Given the description of an element on the screen output the (x, y) to click on. 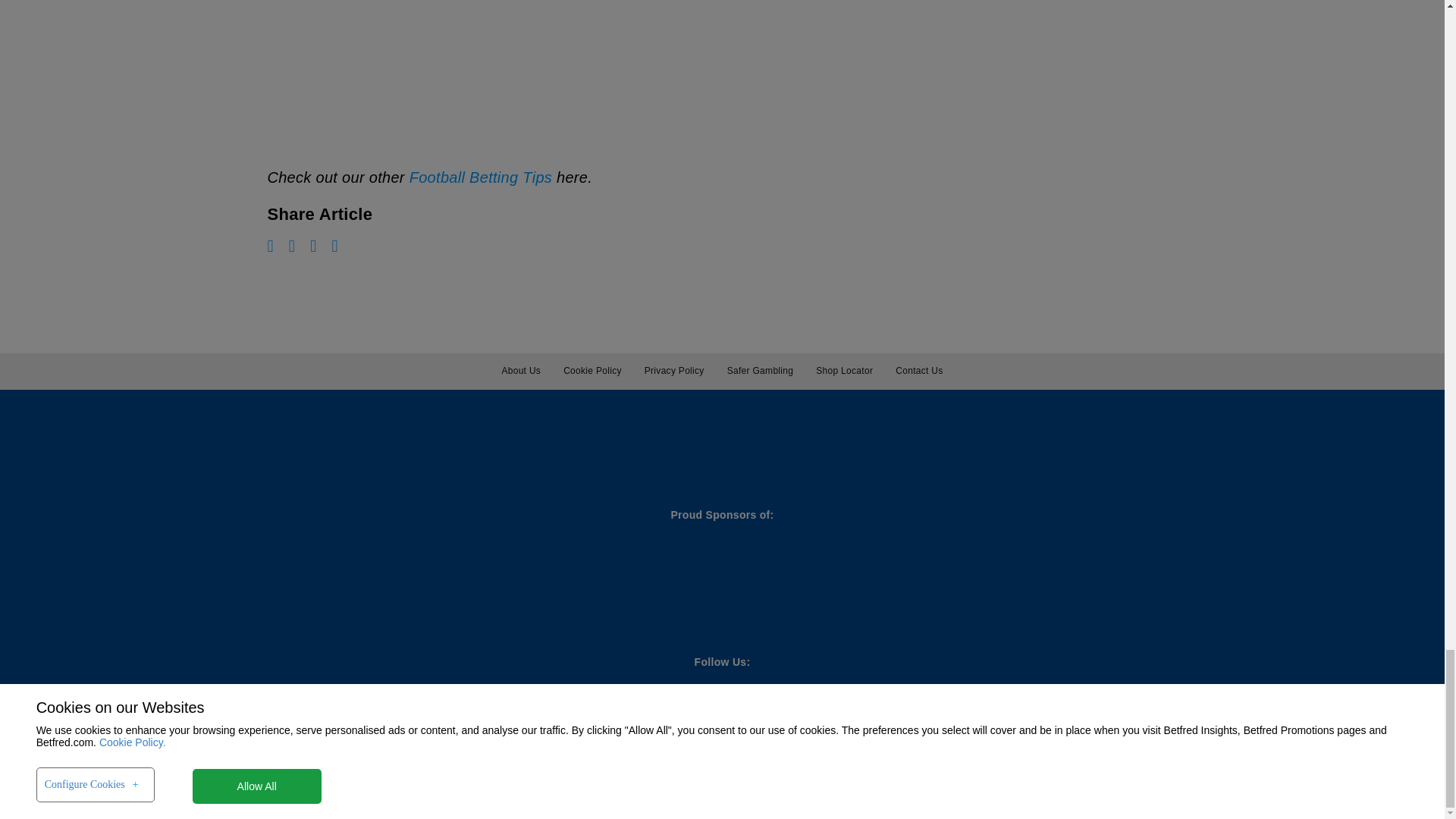
betfred sponsorship rgb footer man utd (363, 575)
betfred sponsorship rgb footer world matchplay (175, 576)
